Given the description of an element on the screen output the (x, y) to click on. 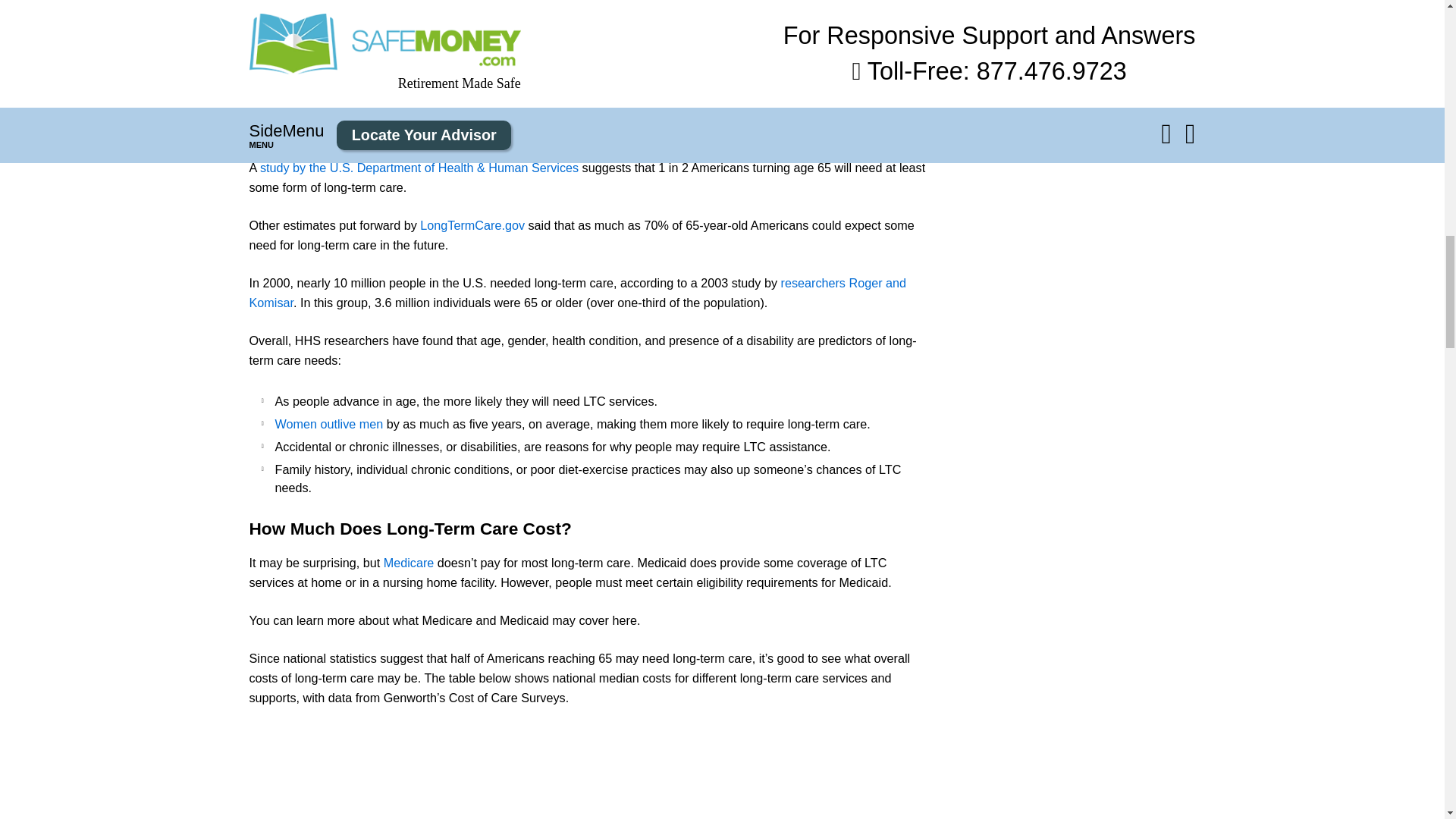
Women outlive men (328, 423)
researchers Roger and Komisar (576, 292)
long-term-care-planning-costs-2-img - SafeMoney.com (586, 772)
Medicare (408, 562)
LongTermCare.gov (472, 224)
